Given the description of an element on the screen output the (x, y) to click on. 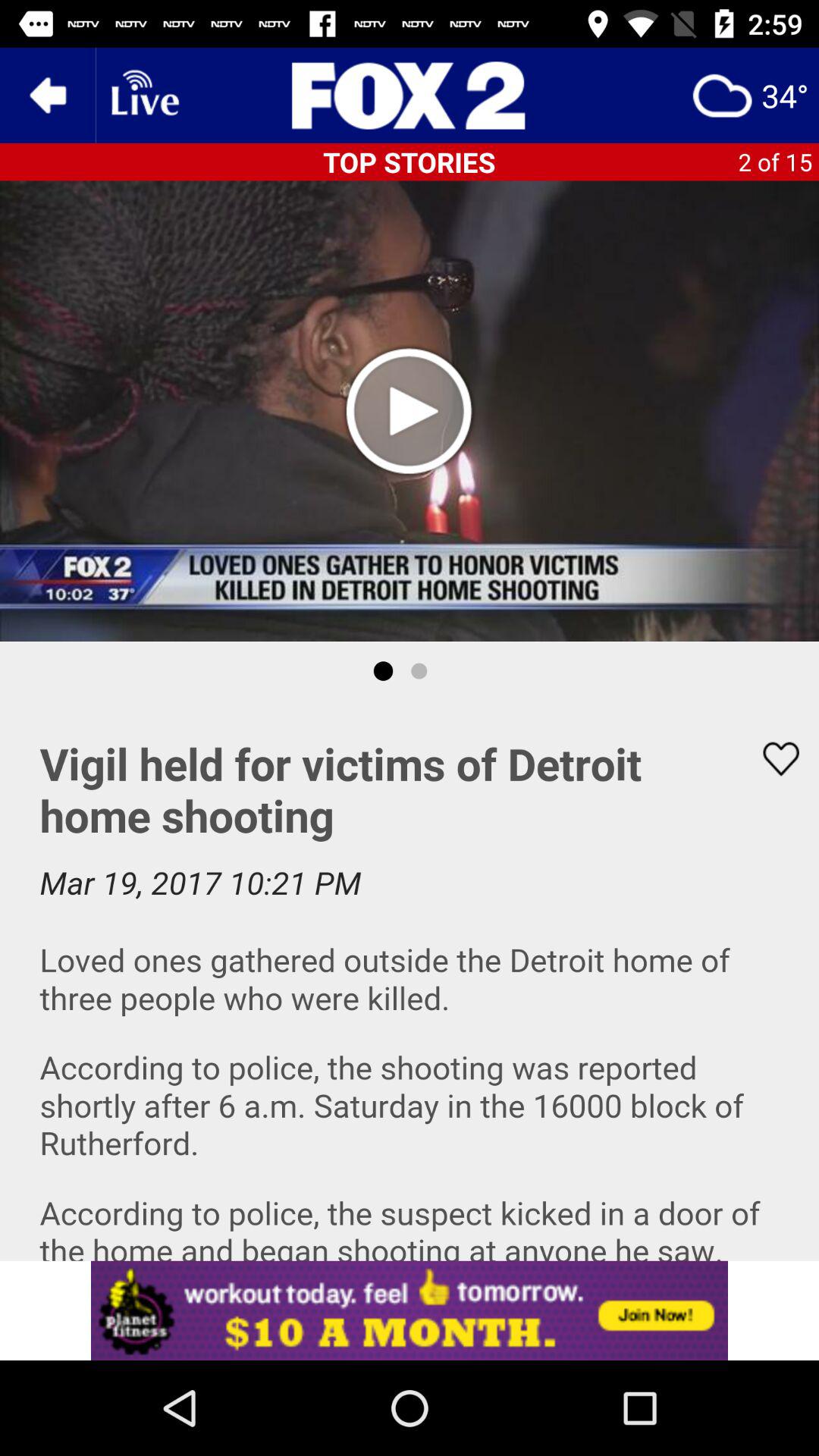
body of an news article (409, 980)
